Given the description of an element on the screen output the (x, y) to click on. 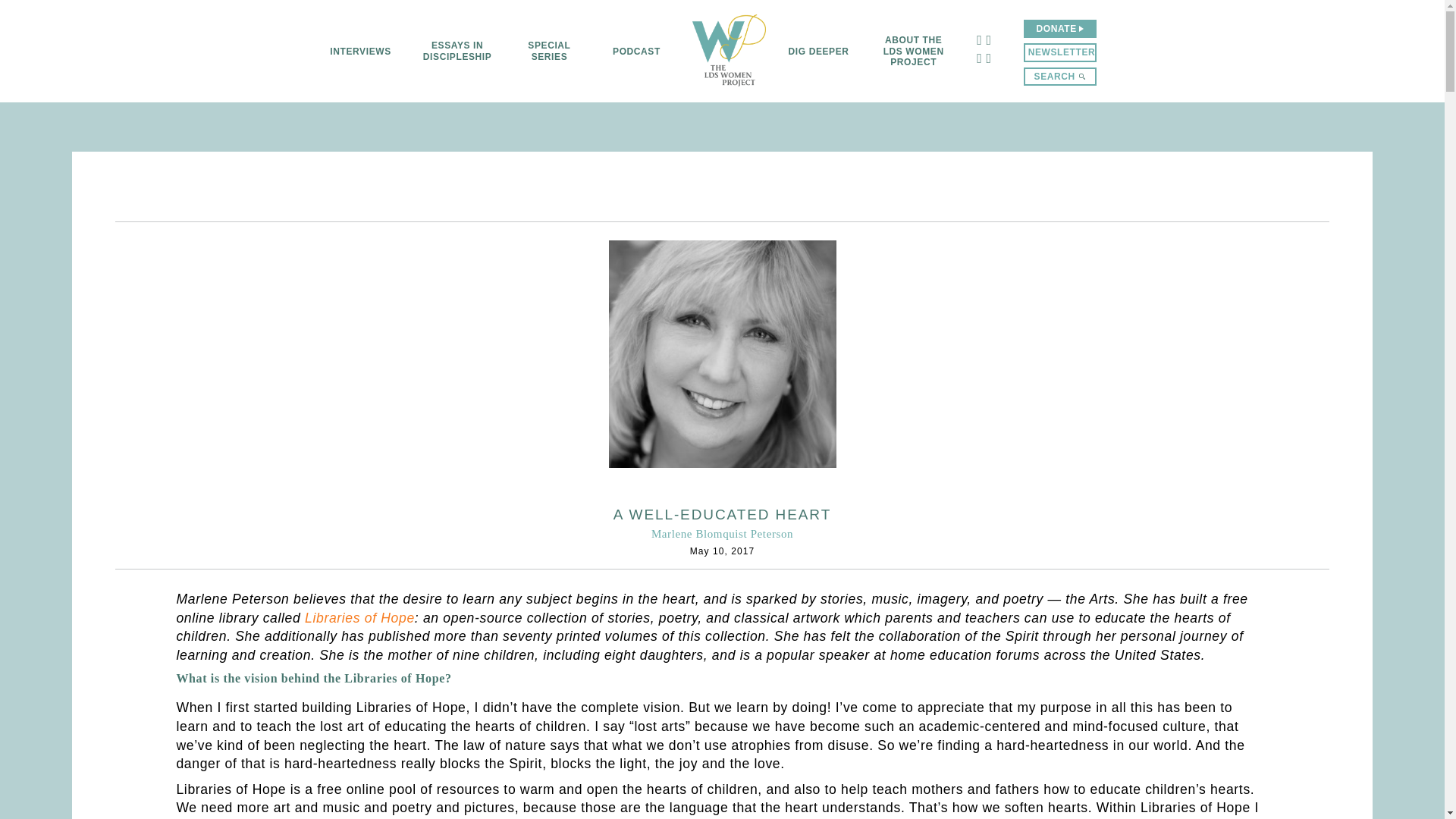
Libraries of Hope (359, 617)
ABOUT THE LDS WOMEN PROJECT (913, 51)
DIG DEEPER (818, 50)
ESSAYS IN DISCIPLESHIP (457, 51)
NEWSLETTER (1059, 52)
SEARCH (1059, 76)
PODCAST (636, 50)
A WELL-EDUCATED HEART (721, 514)
INTERVIEWS (360, 50)
DONATE (1059, 28)
